Given the description of an element on the screen output the (x, y) to click on. 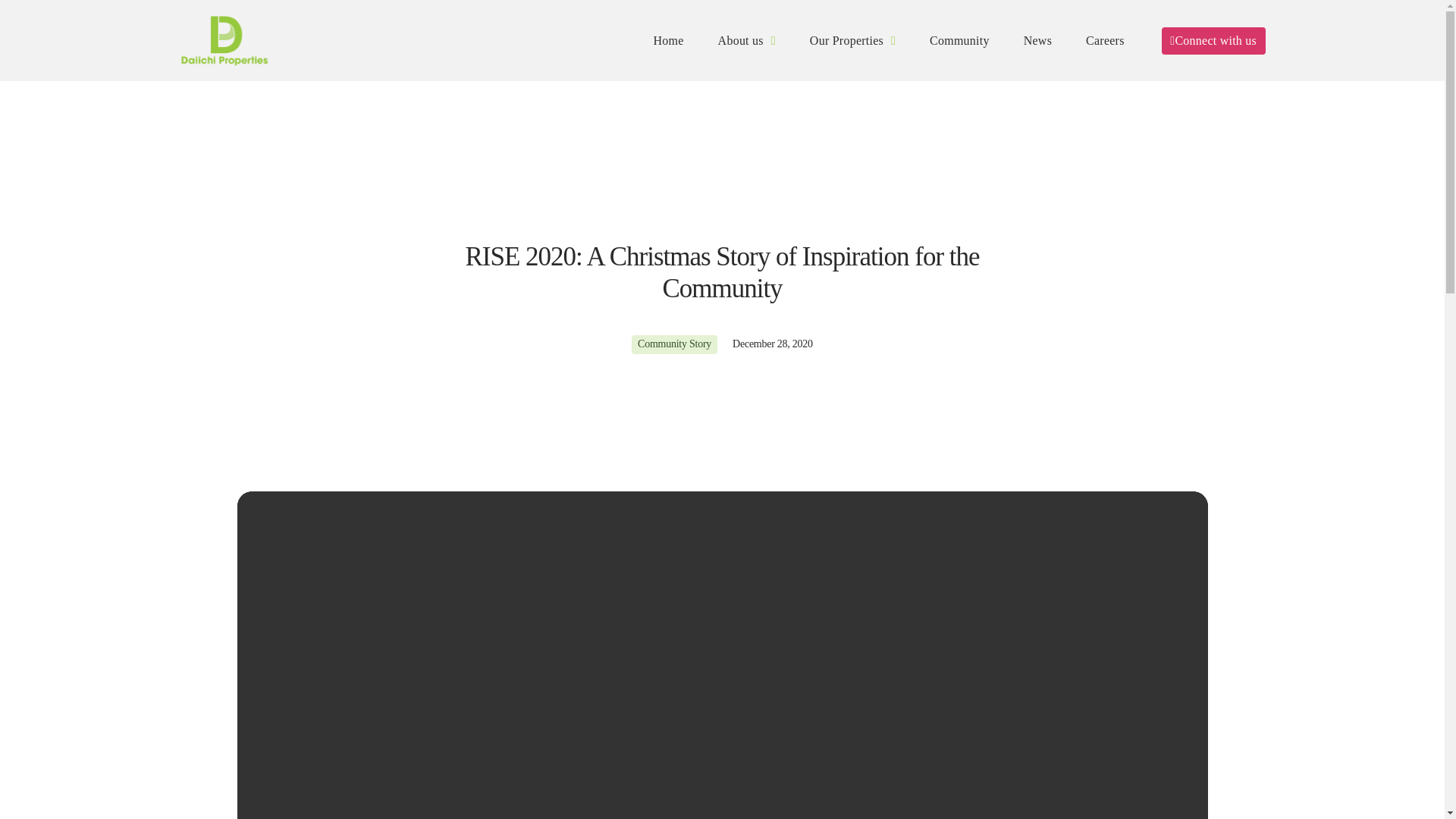
Community (959, 40)
News (1037, 40)
About us (746, 40)
Connect with us (1213, 40)
Careers (1105, 40)
Our Properties (852, 40)
Home (668, 40)
